Given the description of an element on the screen output the (x, y) to click on. 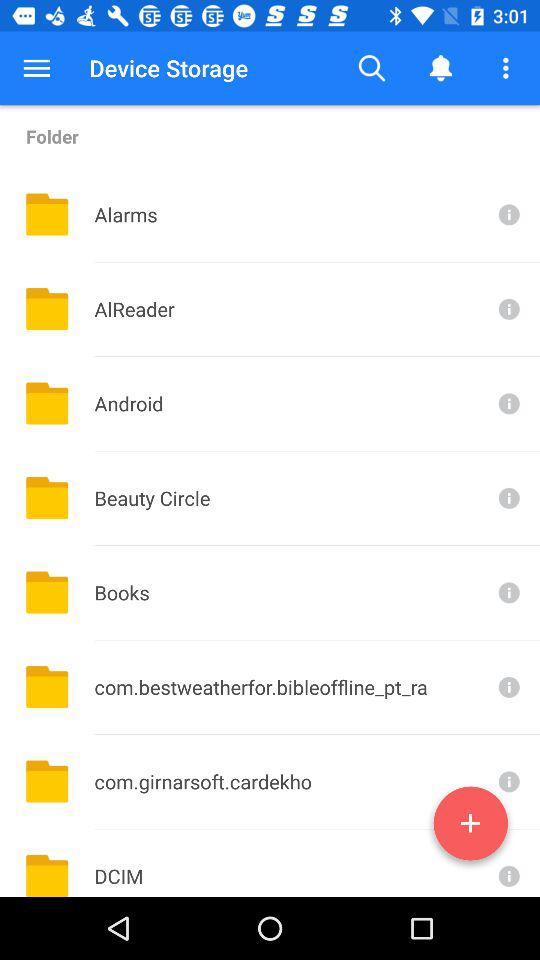
new folder (470, 827)
